Given the description of an element on the screen output the (x, y) to click on. 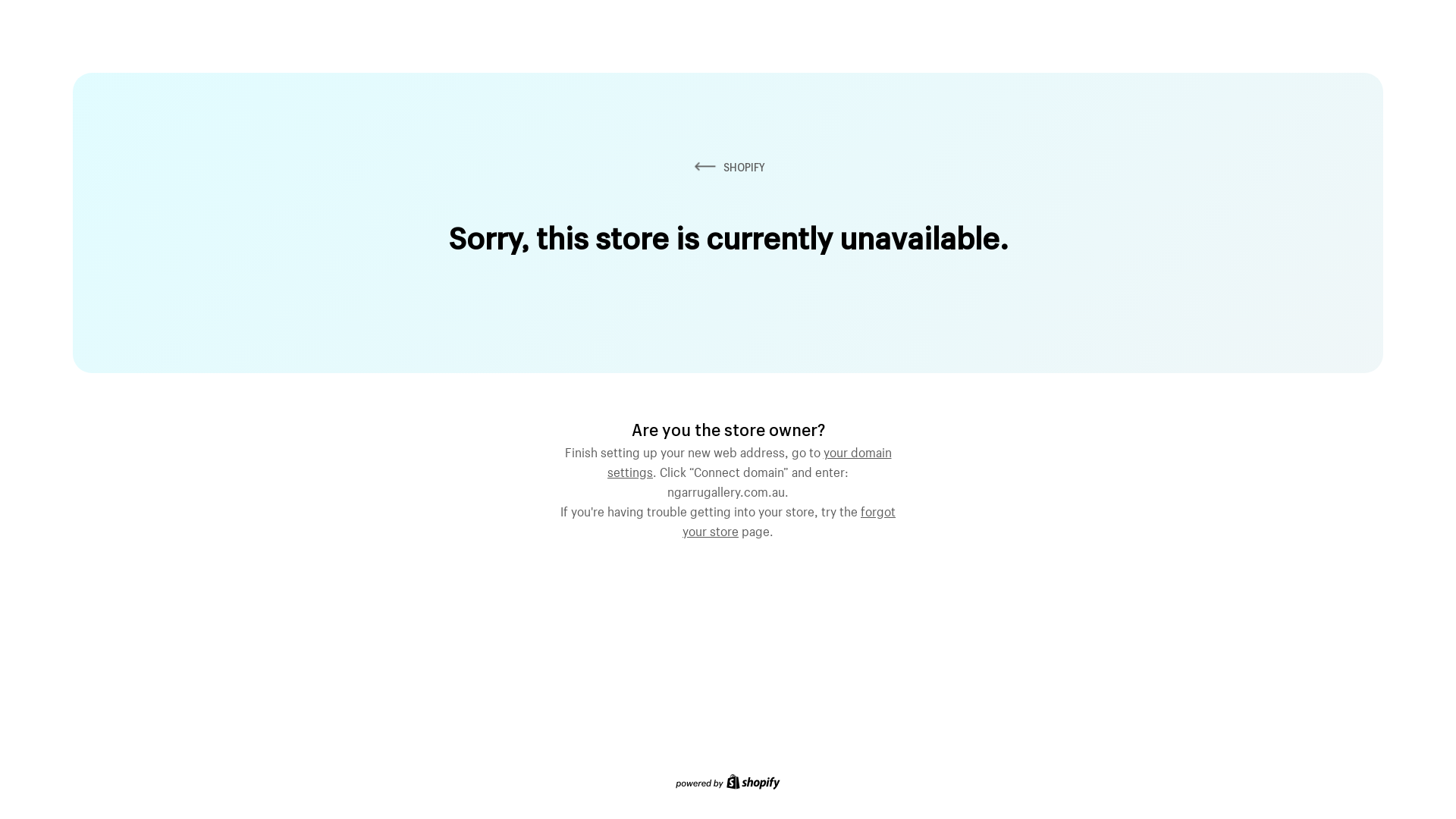
your domain settings Element type: text (749, 460)
SHOPIFY Element type: text (727, 167)
forgot your store Element type: text (788, 519)
